Given the description of an element on the screen output the (x, y) to click on. 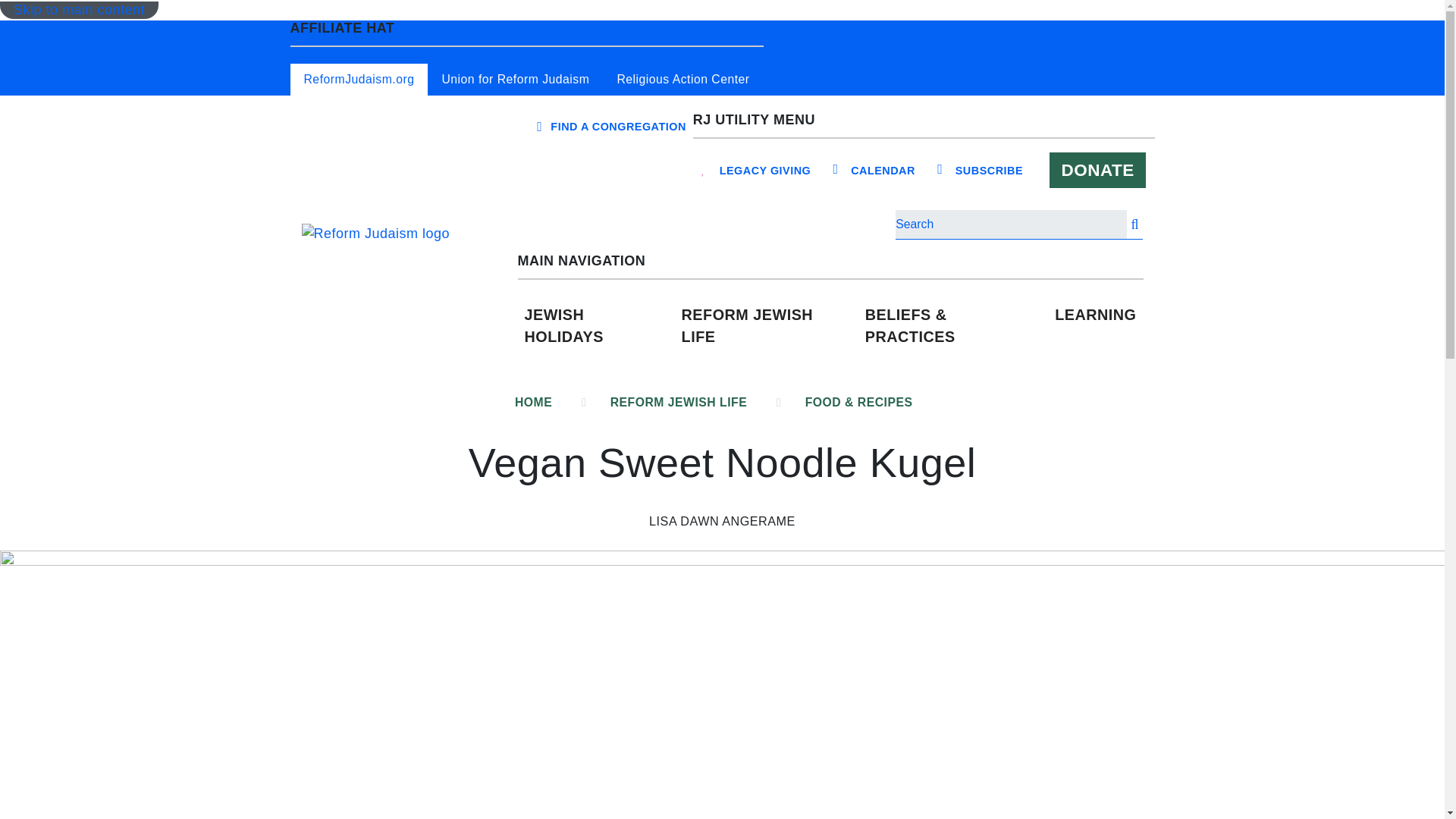
ReformJudaism.org (358, 79)
REFORM JEWISH LIFE (767, 326)
Union for Reform Judaism (515, 79)
Religious Action Center (682, 79)
FIND A CONGREGATION (617, 126)
SUBSCRIBE (989, 171)
CALENDAR (882, 171)
Skip to main content (79, 9)
LEGACY GIVING (765, 171)
JEWISH HOLIDAYS (595, 326)
